Given the description of an element on the screen output the (x, y) to click on. 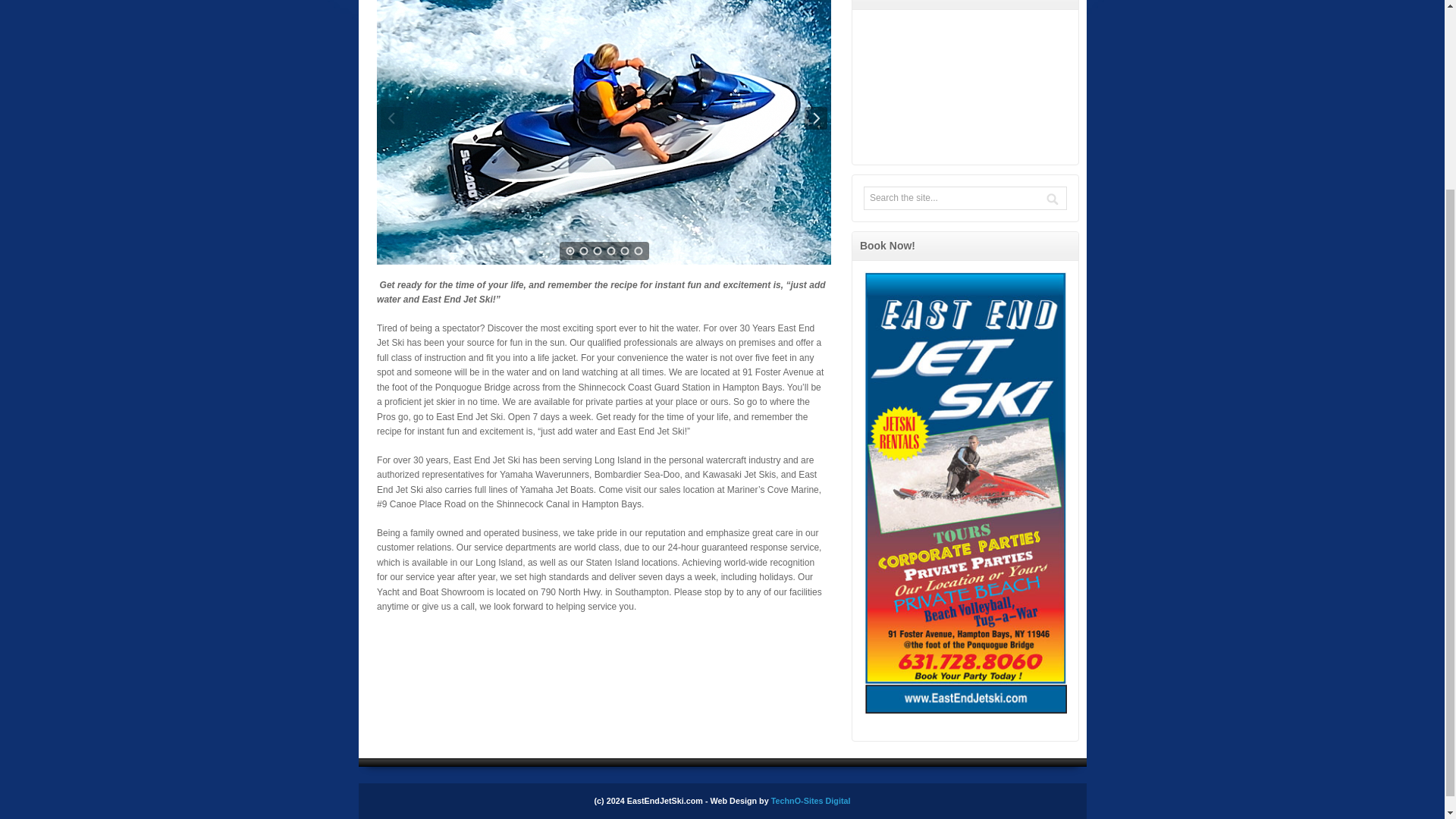
3 (597, 250)
TechnO-Sites Digital (810, 800)
1 (569, 250)
4 (610, 250)
Search the site... (932, 197)
5 (624, 250)
2 (583, 250)
Search the site... (932, 197)
6 (638, 250)
